Given the description of an element on the screen output the (x, y) to click on. 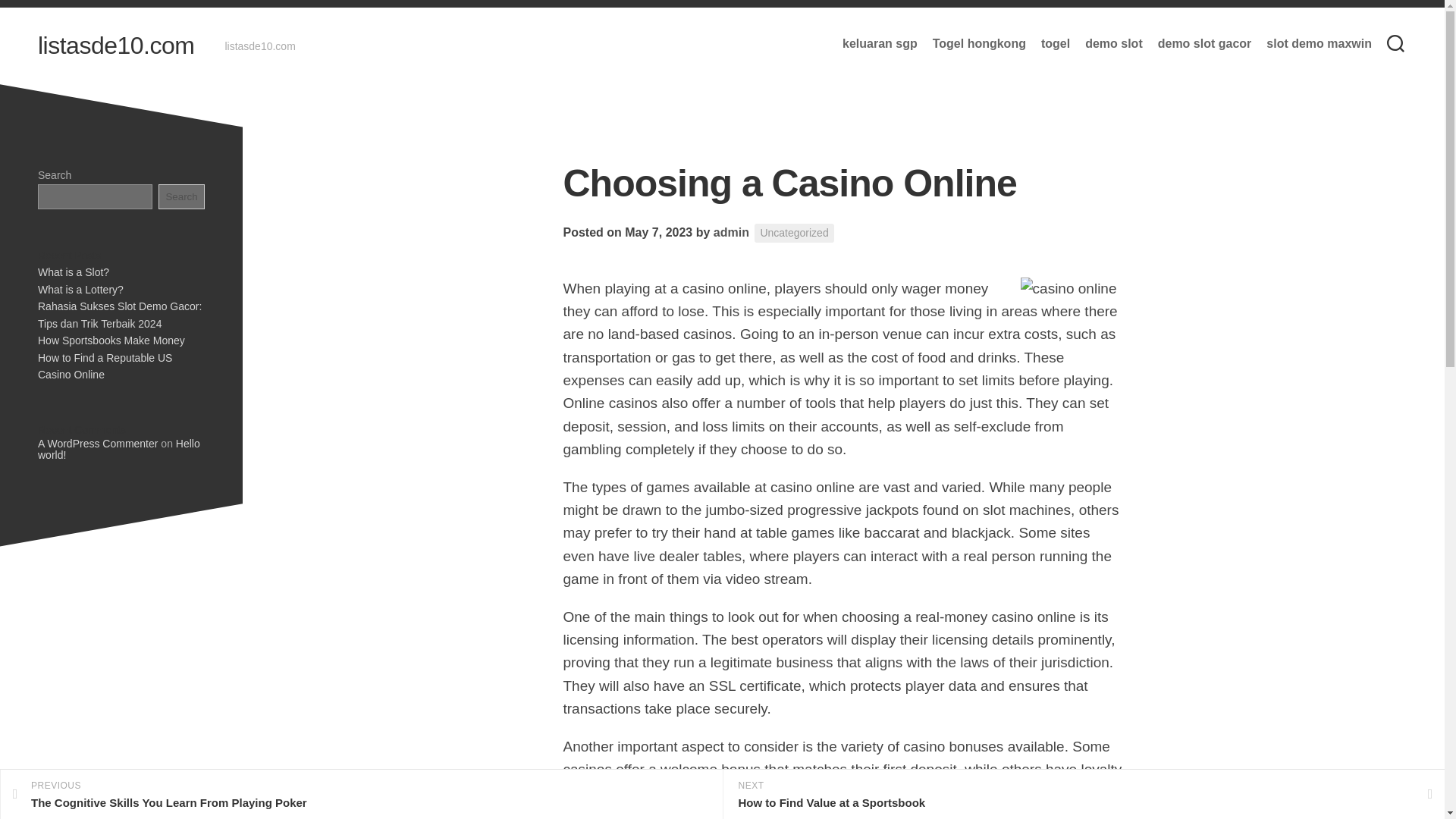
demo slot (1113, 43)
Posts by admin (731, 232)
A WordPress Commenter (97, 443)
keluaran sgp (880, 43)
togel (1055, 43)
listasde10.com (115, 44)
admin (731, 232)
How to Find a Reputable US Casino Online (104, 366)
Togel hongkong (979, 43)
What is a Slot? (73, 272)
Hello world! (118, 449)
What is a Lottery? (80, 289)
slot demo maxwin (1318, 43)
How Sportsbooks Make Money (110, 340)
Search (181, 195)
